Given the description of an element on the screen output the (x, y) to click on. 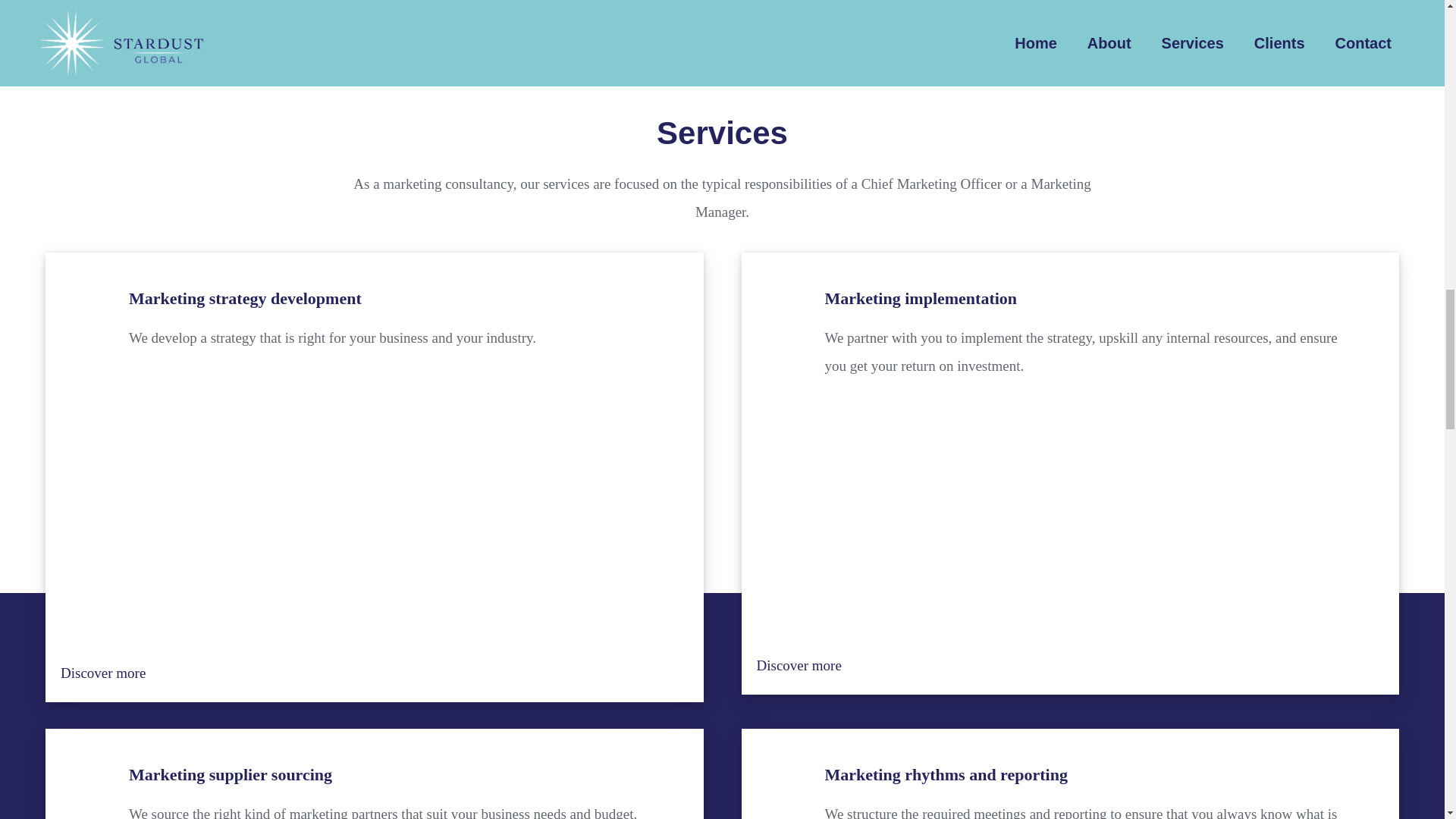
Discover more (799, 665)
Discover more (103, 672)
